Given the description of an element on the screen output the (x, y) to click on. 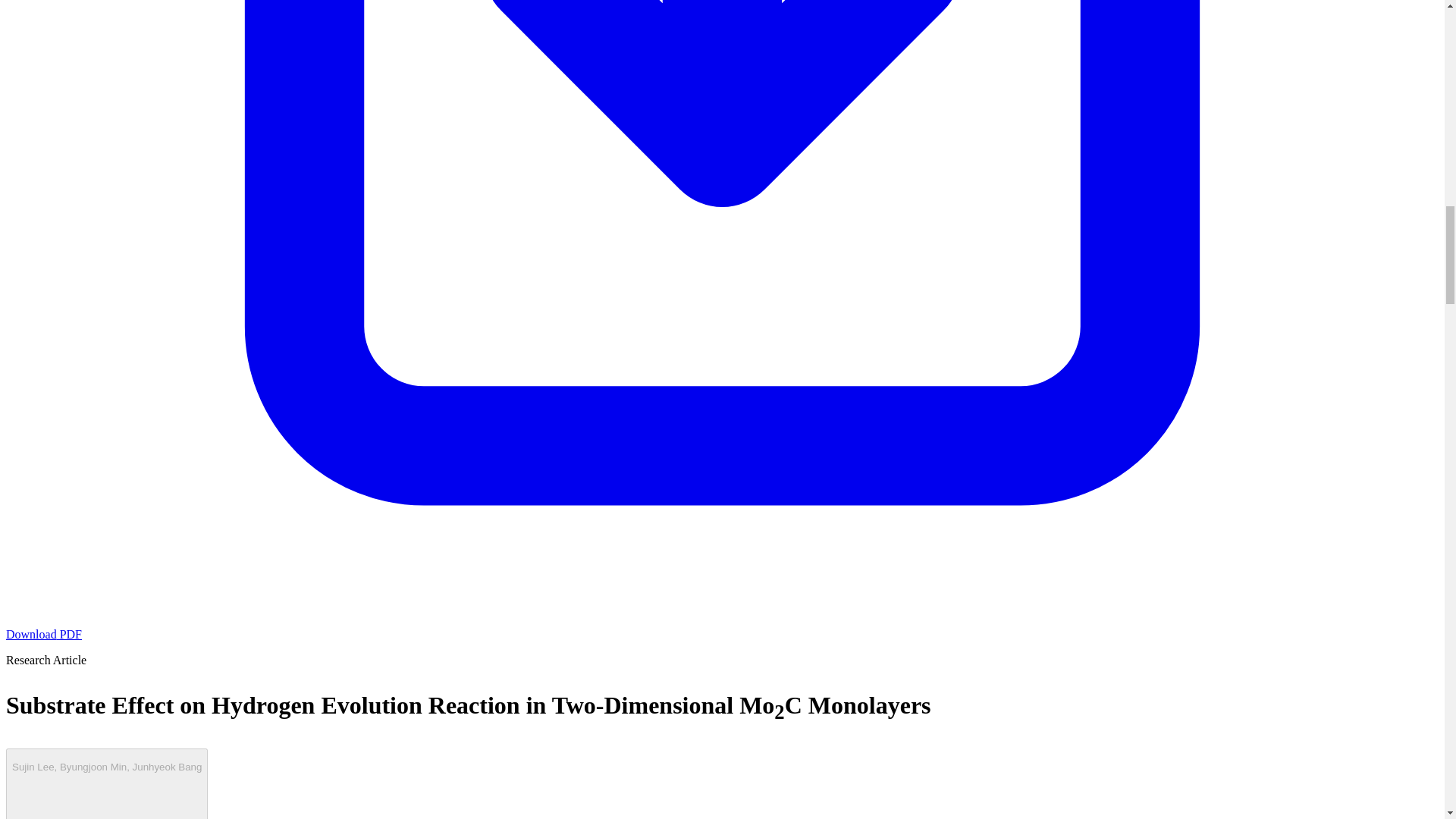
Sujin Lee, Byungjoon Min, Junhyeok Bang (106, 783)
